Given the description of an element on the screen output the (x, y) to click on. 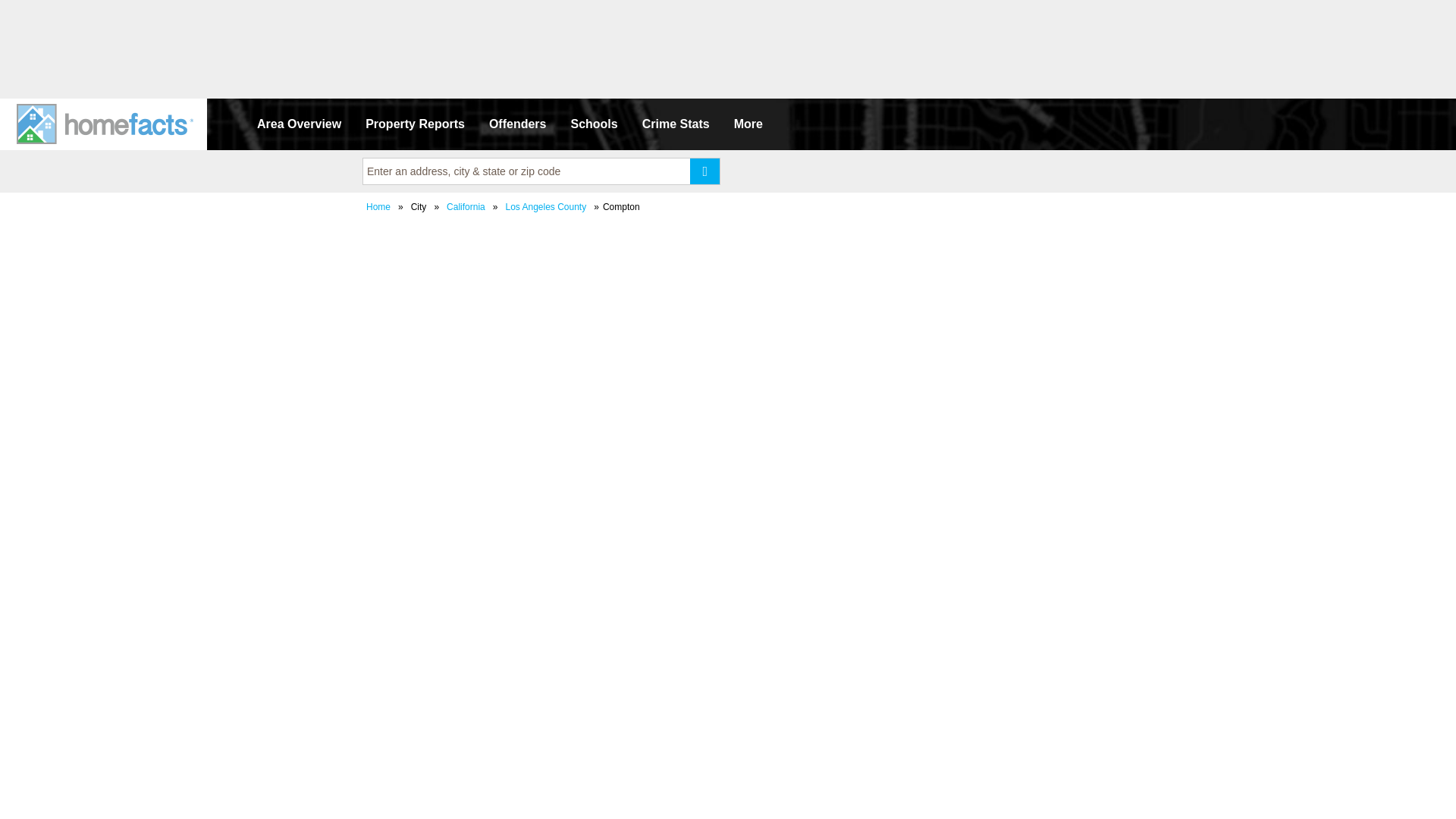
Area Overview (298, 123)
Crime Stats (676, 123)
California (465, 206)
Offenders (518, 123)
Area Overview (298, 123)
Property Reports (415, 123)
Home (378, 206)
Los Angeles County (544, 206)
Crime Stats (676, 123)
Schools (592, 123)
